Given the description of an element on the screen output the (x, y) to click on. 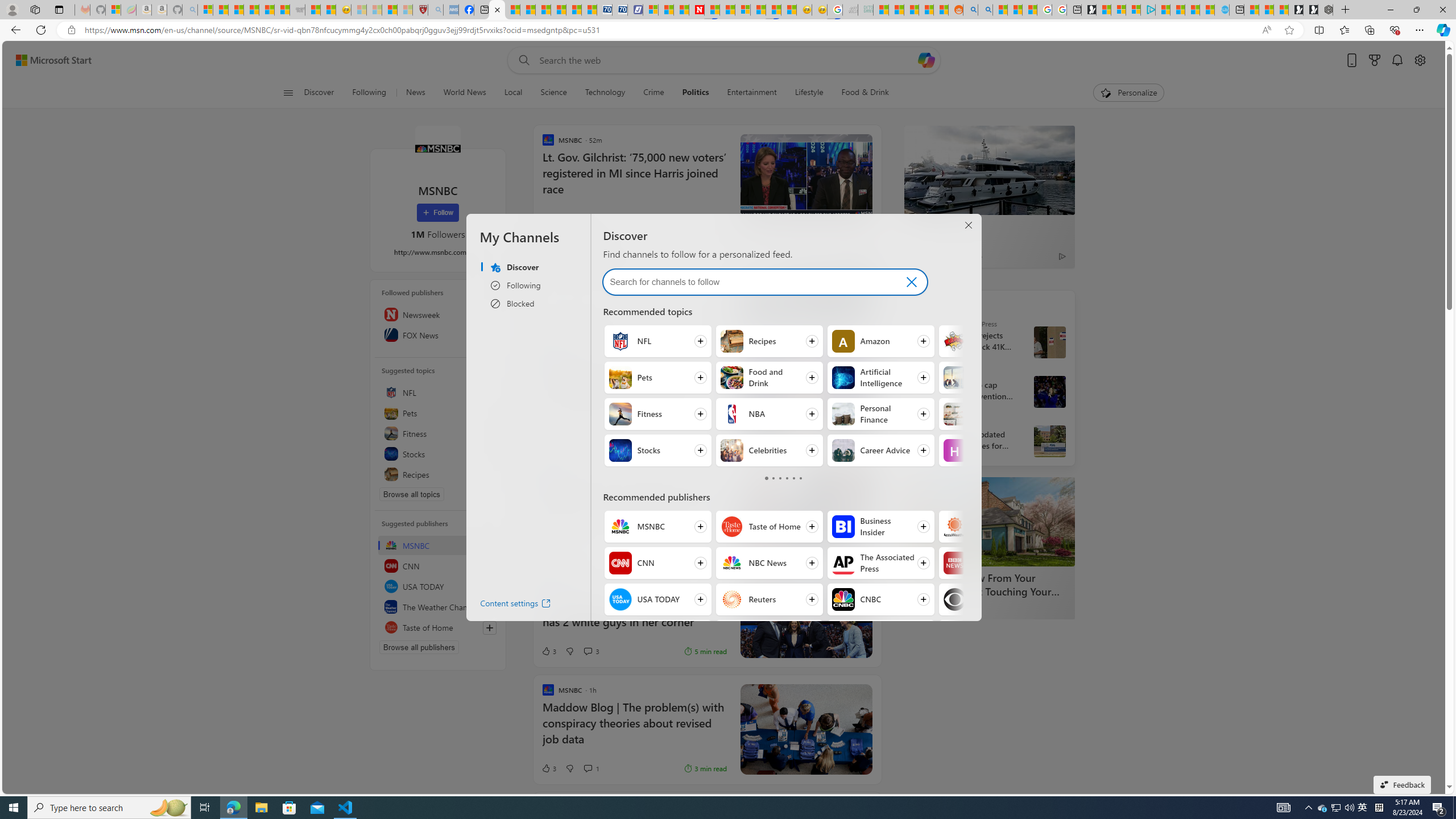
Combat Siege (297, 9)
Follow The Weather Channel (657, 635)
Follow NFL (657, 341)
Taste of Home (437, 627)
View comments 1 Comment (591, 768)
Utah sues federal government - Search (984, 9)
The Weather Channel (437, 606)
Start the conversation (587, 549)
View comments 1 Comment (587, 768)
Celebrities (732, 449)
Manage (485, 291)
